Given the description of an element on the screen output the (x, y) to click on. 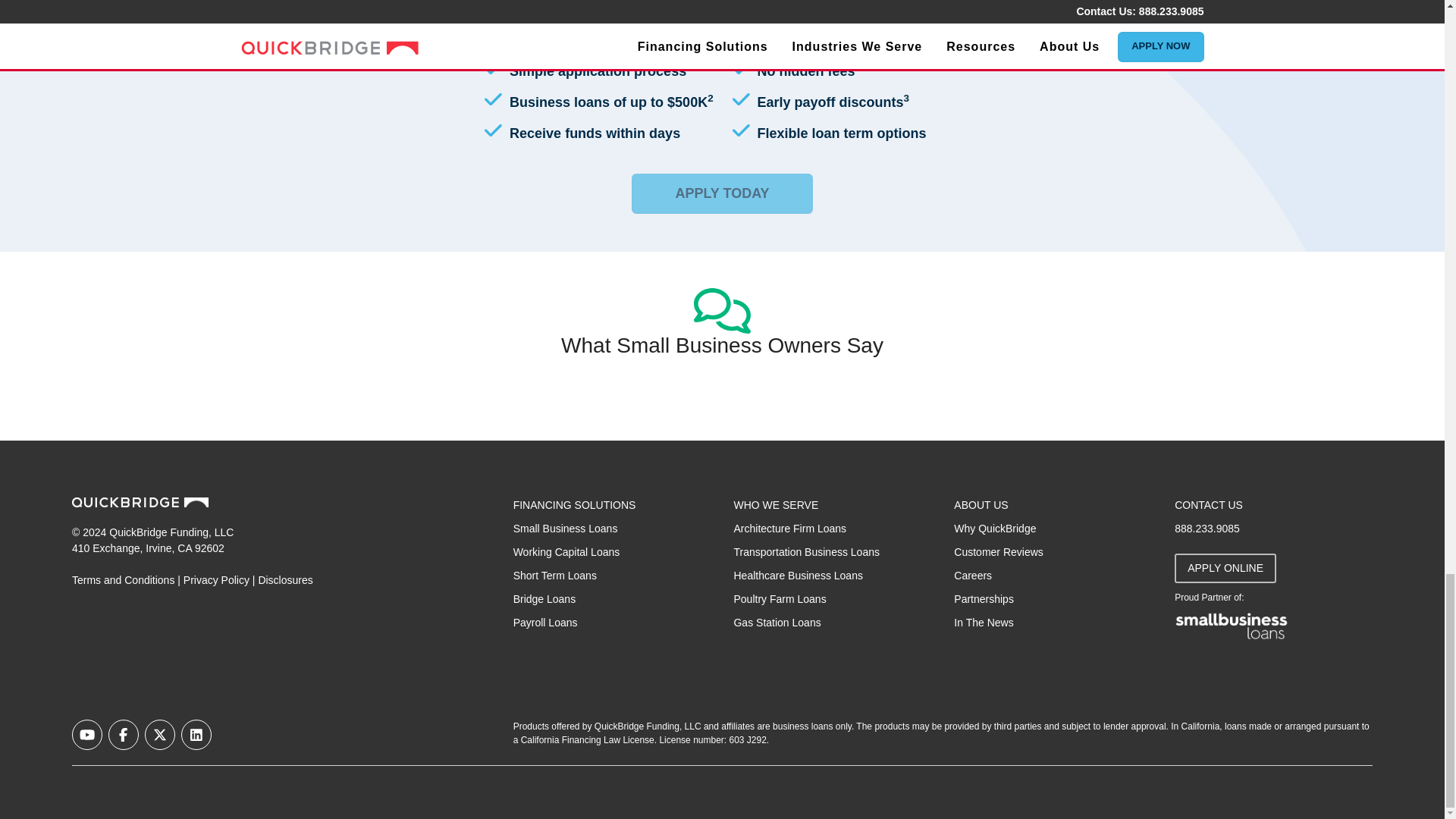
FINANCING SOLUTIONS (574, 504)
Disclosures (285, 580)
Terms and Conditions (122, 580)
Opens a new tab for the QuickBridge Youtube Page (87, 735)
APPLY TODAY (721, 193)
Opens a new tab for QuickBridge Twitter Page (159, 735)
Privacy Policy (215, 580)
APPLY TODAY (721, 192)
